Given the description of an element on the screen output the (x, y) to click on. 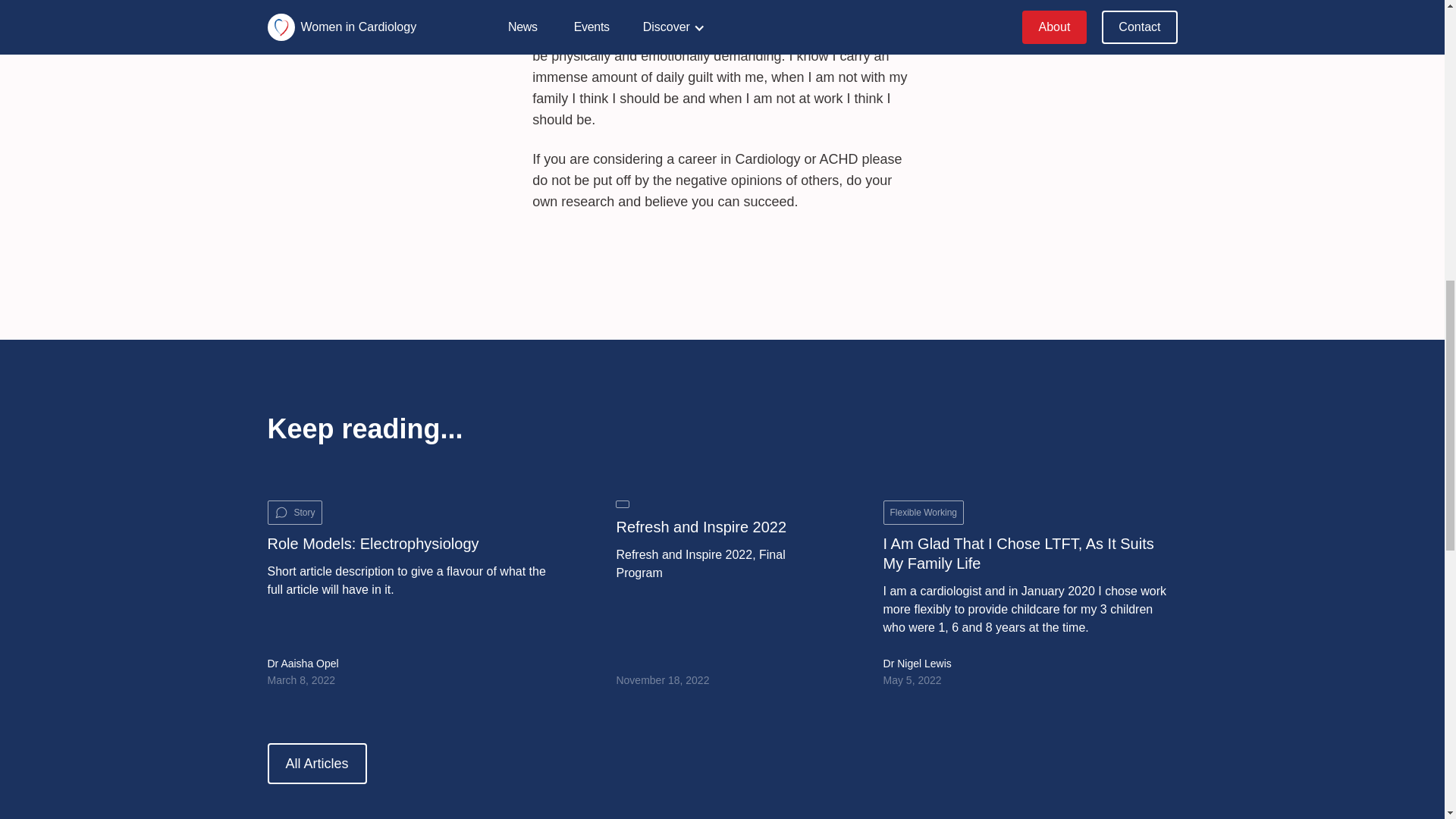
Refresh and Inspire 2022 (700, 526)
Dr Aaisha Opel (301, 663)
Role Models: Electrophysiology (372, 543)
All Articles (316, 762)
Dr Nigel Lewis (917, 663)
I Am Glad That I Chose LTFT, As It Suits My Family Life (1030, 553)
